Given the description of an element on the screen output the (x, y) to click on. 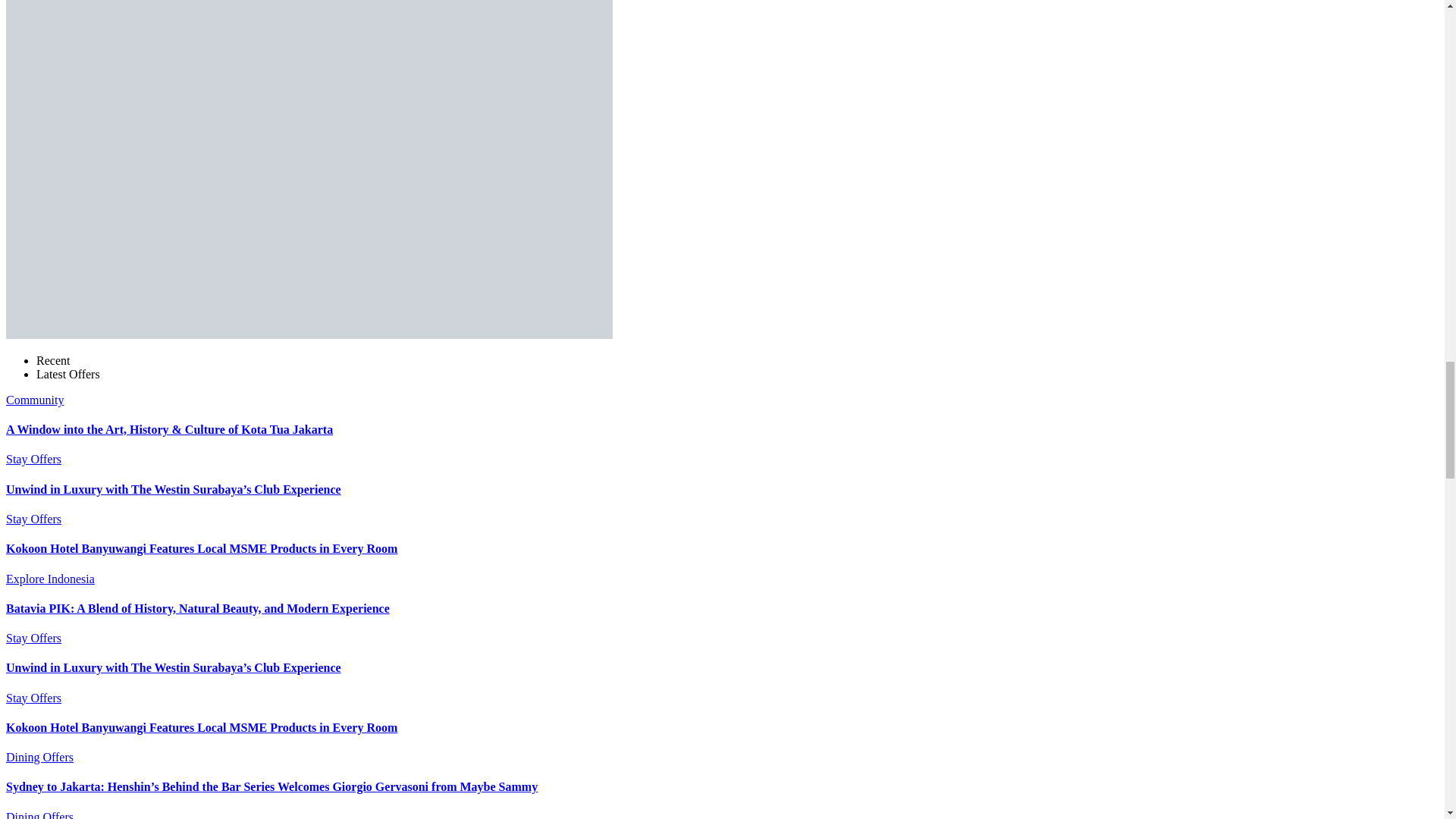
Dining Offers (39, 814)
Explore Indonesia (49, 578)
Stay Offers (33, 518)
Latest Offers (68, 373)
Dining Offers (39, 757)
Recent (52, 359)
Community (34, 399)
Stay Offers (33, 637)
